Given the description of an element on the screen output the (x, y) to click on. 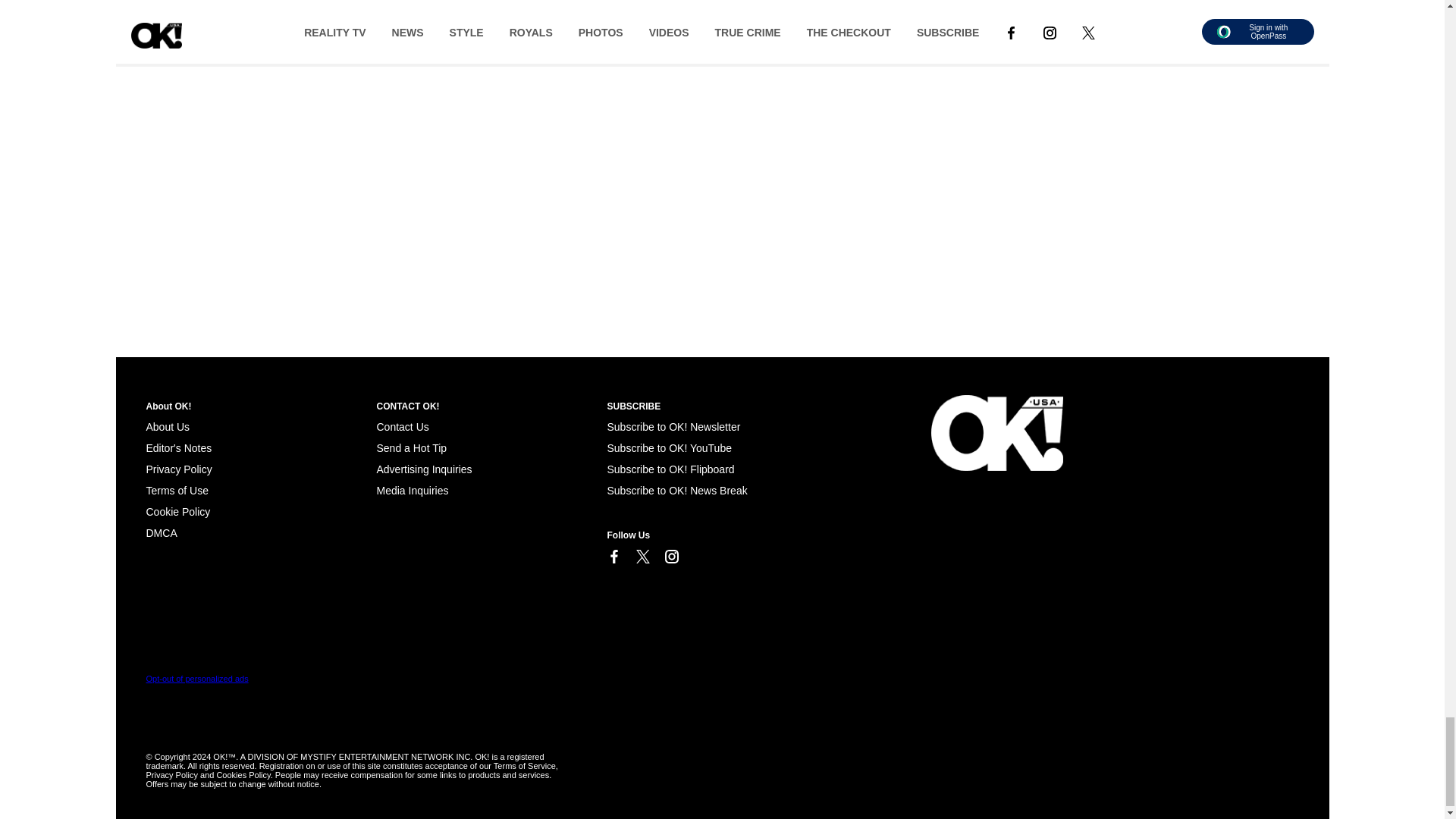
About Us (167, 426)
Link to X (641, 556)
Terms of Use (176, 490)
Cookie Policy (160, 532)
Link to Instagram (670, 556)
Privacy Policy (178, 469)
Cookie Policy (177, 511)
Link to Facebook (613, 556)
Editor's Notes (178, 448)
